Given the description of an element on the screen output the (x, y) to click on. 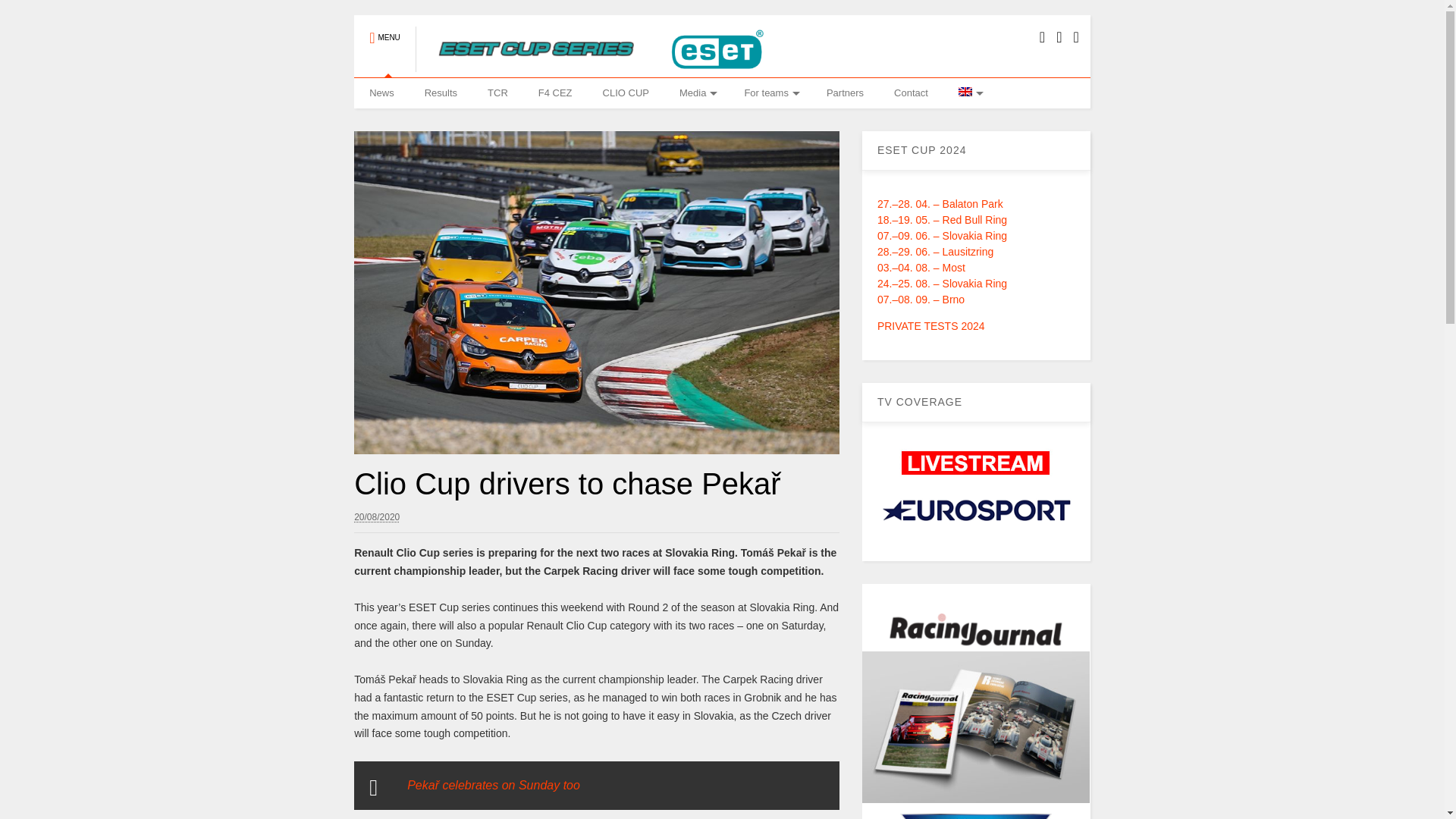
TCR (496, 92)
CLIO CUP (625, 92)
News (381, 92)
Results (440, 92)
Partners (844, 92)
Media (696, 92)
For teams (769, 92)
ESET Cup Series (593, 65)
F4 CEZ (555, 92)
MENU (383, 30)
Contact (911, 92)
